Given the description of an element on the screen output the (x, y) to click on. 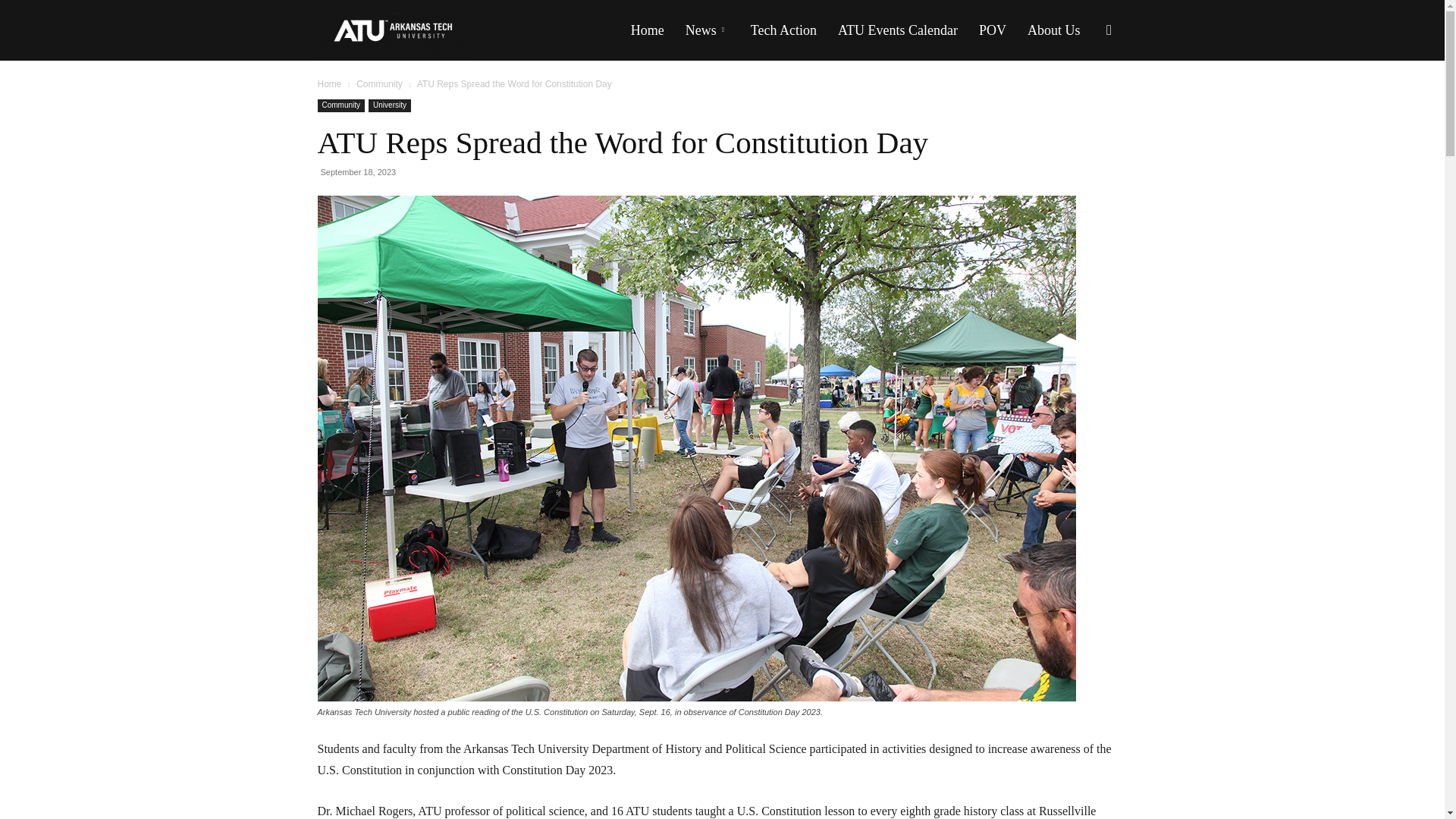
Arkansas Tech University (392, 30)
Search (1085, 102)
Community (379, 83)
About Us (1053, 30)
Home (647, 30)
University (389, 105)
Tech Action (783, 30)
ATU Events Calendar (897, 30)
Community (341, 105)
News (707, 30)
View all posts in Community (379, 83)
Home (328, 83)
